Given the description of an element on the screen output the (x, y) to click on. 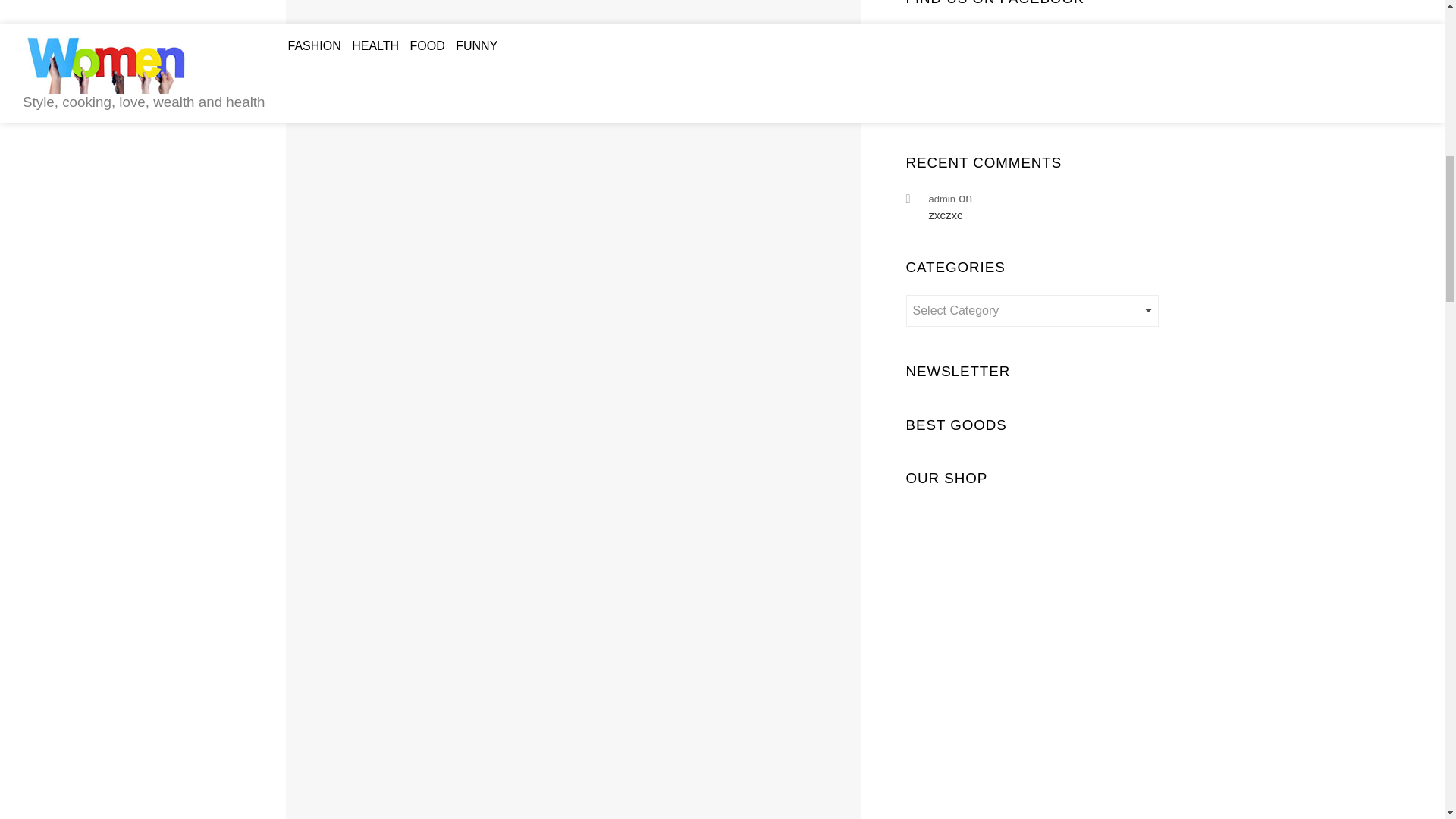
Search (916, 125)
zxczxc (1043, 215)
Search for: (1031, 102)
Search (916, 125)
Search (916, 125)
